Given the description of an element on the screen output the (x, y) to click on. 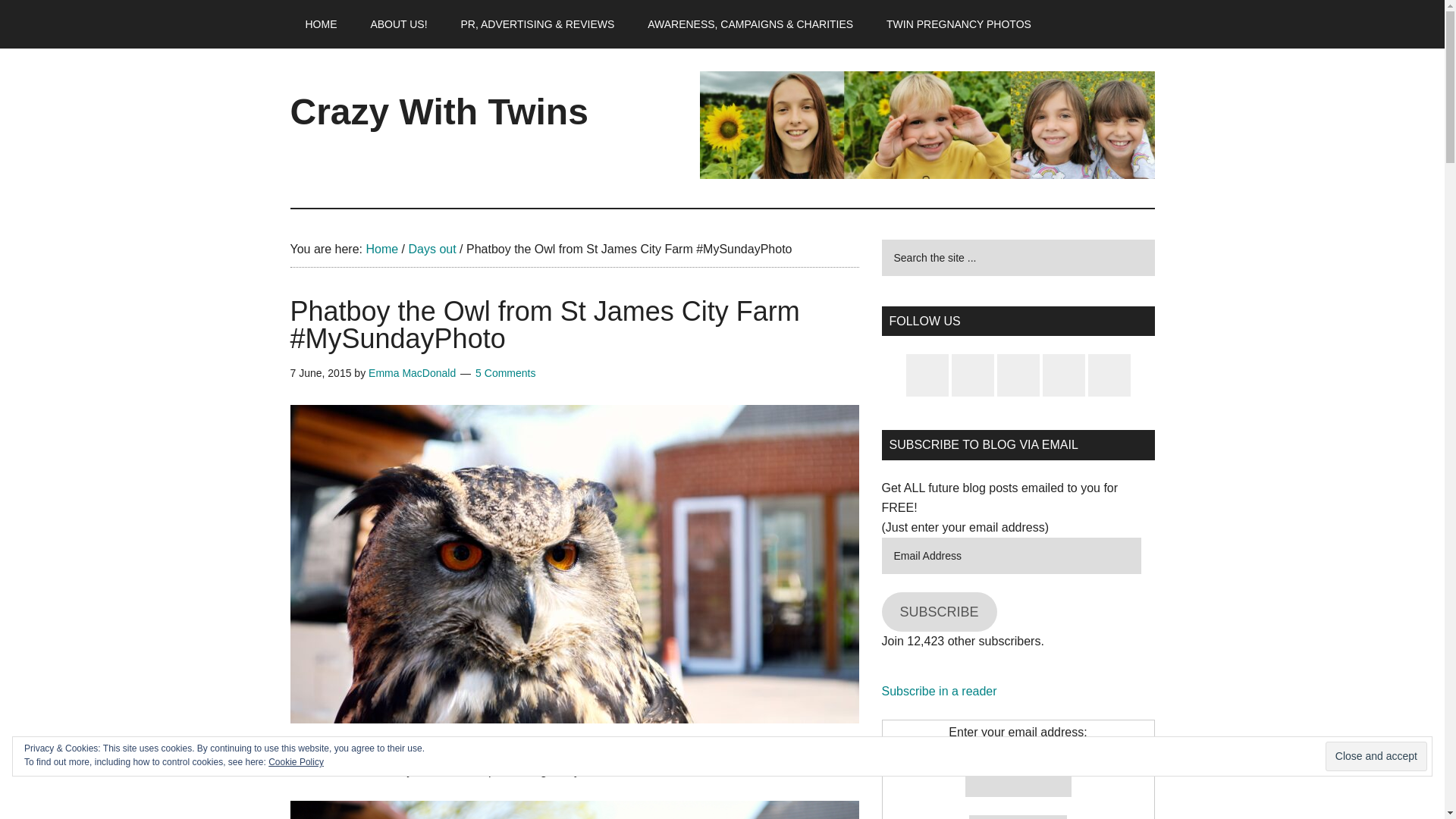
Days out (431, 248)
Subscribe to my feed (937, 690)
Subscribe (1018, 816)
Emma MacDonald (411, 372)
ABOUT US! (398, 24)
Close and accept (1375, 756)
5 Comments (505, 372)
HOME (320, 24)
Crazy With Twins (438, 111)
Home (381, 248)
TWIN PREGNANCY PHOTOS (958, 24)
